Given the description of an element on the screen output the (x, y) to click on. 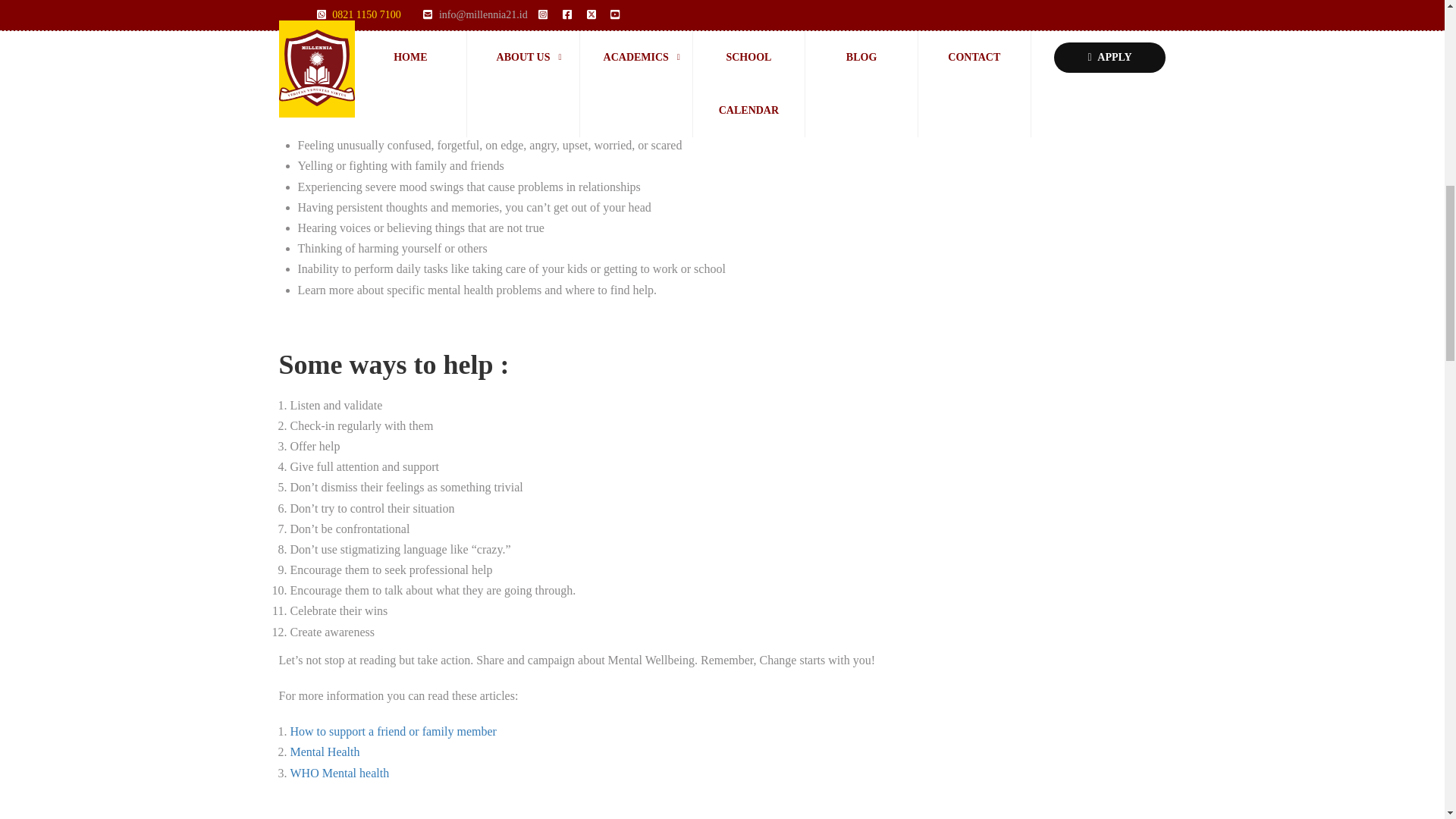
How to support a friend or family member (392, 730)
Mental Health  (325, 751)
WHO Mental health  (340, 772)
